Given the description of an element on the screen output the (x, y) to click on. 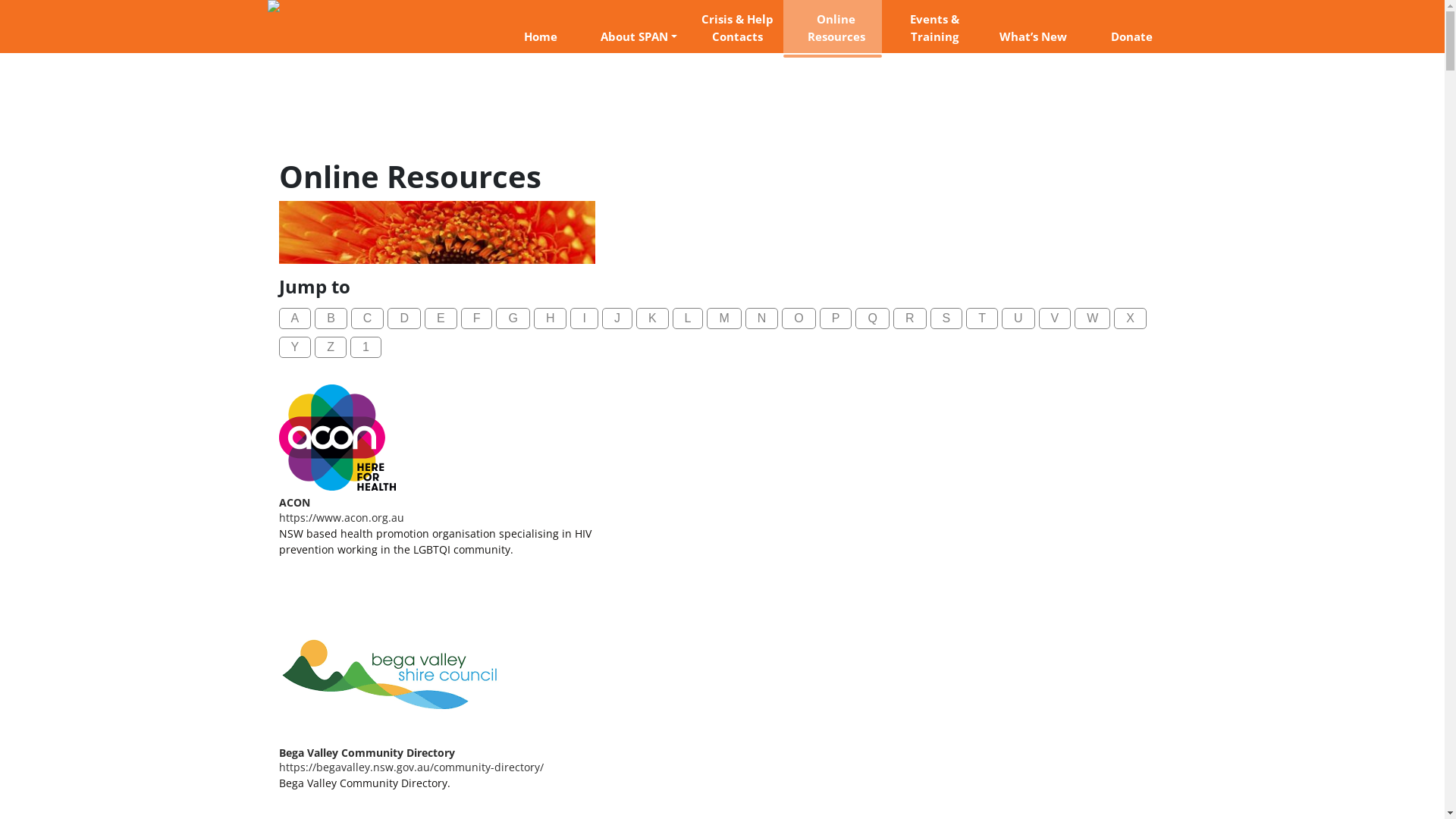
Y Element type: text (295, 346)
Z Element type: text (330, 346)
M Element type: text (723, 318)
V Element type: text (1054, 318)
C Element type: text (367, 318)
J Element type: text (617, 318)
N Element type: text (761, 318)
Q Element type: text (871, 318)
H Element type: text (550, 318)
A Element type: text (295, 318)
L Element type: text (687, 318)
I Element type: text (583, 318)
S Element type: text (945, 318)
D Element type: text (403, 318)
B Element type: text (330, 318)
G Element type: text (512, 318)
1 Element type: text (365, 346)
K Element type: text (652, 318)
F Element type: text (476, 318)
E Element type: text (440, 318)
T Element type: text (981, 318)
https://www.acon.org.au Element type: text (341, 517)
P Element type: text (835, 318)
Bega Valley Community Directory Element type: text (367, 752)
O Element type: text (798, 318)
W Element type: text (1092, 318)
U Element type: text (1018, 318)
R Element type: text (909, 318)
https://begavalley.nsw.gov.au/community-directory/ Element type: text (411, 766)
ACON Element type: text (294, 502)
X Element type: text (1129, 318)
